Given the description of an element on the screen output the (x, y) to click on. 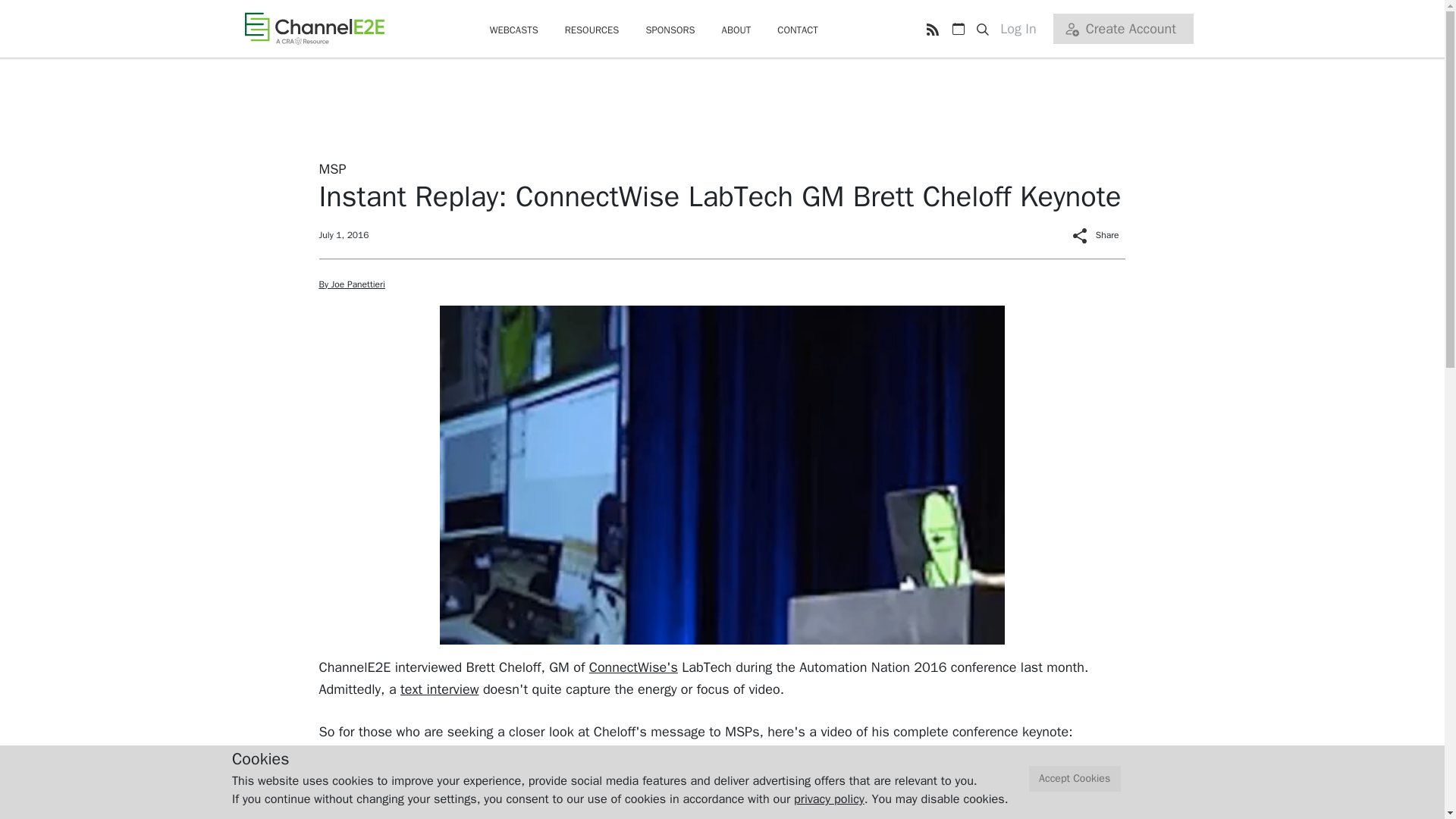
ChannelE2E (314, 27)
Accept Cookies (1075, 778)
text interview (439, 688)
CONTACT (797, 30)
View Cybersecurity Conference Calendar (957, 28)
ABOUT (736, 30)
By Joe Panettieri (351, 284)
privacy policy (828, 798)
WEBCASTS (513, 30)
Create Account (1122, 29)
Video link (346, 773)
SPONSORS (669, 30)
Log In (1023, 29)
RESOURCES (592, 30)
MSP (332, 168)
